Given the description of an element on the screen output the (x, y) to click on. 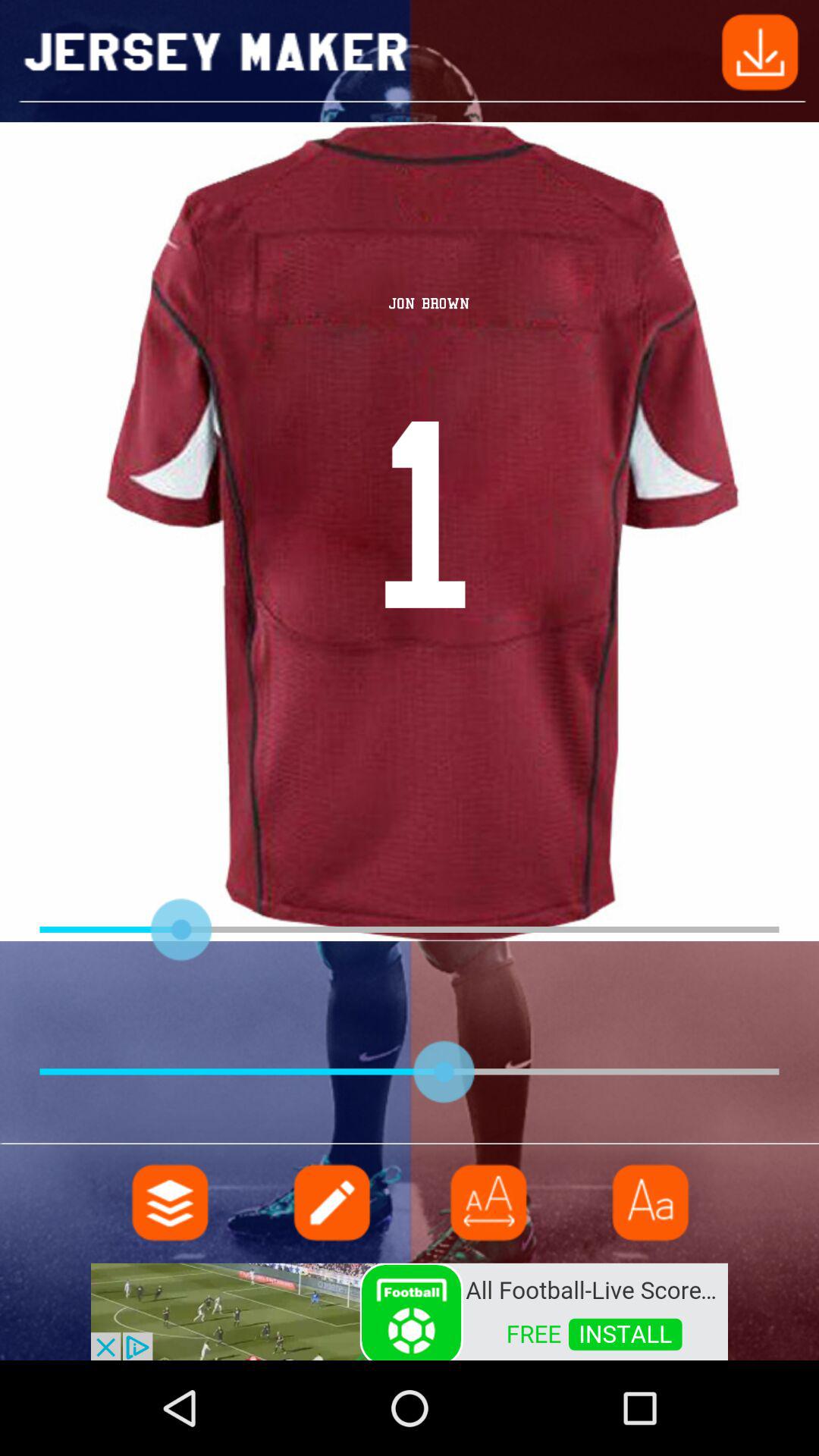
menu pega (488, 1202)
